Given the description of an element on the screen output the (x, y) to click on. 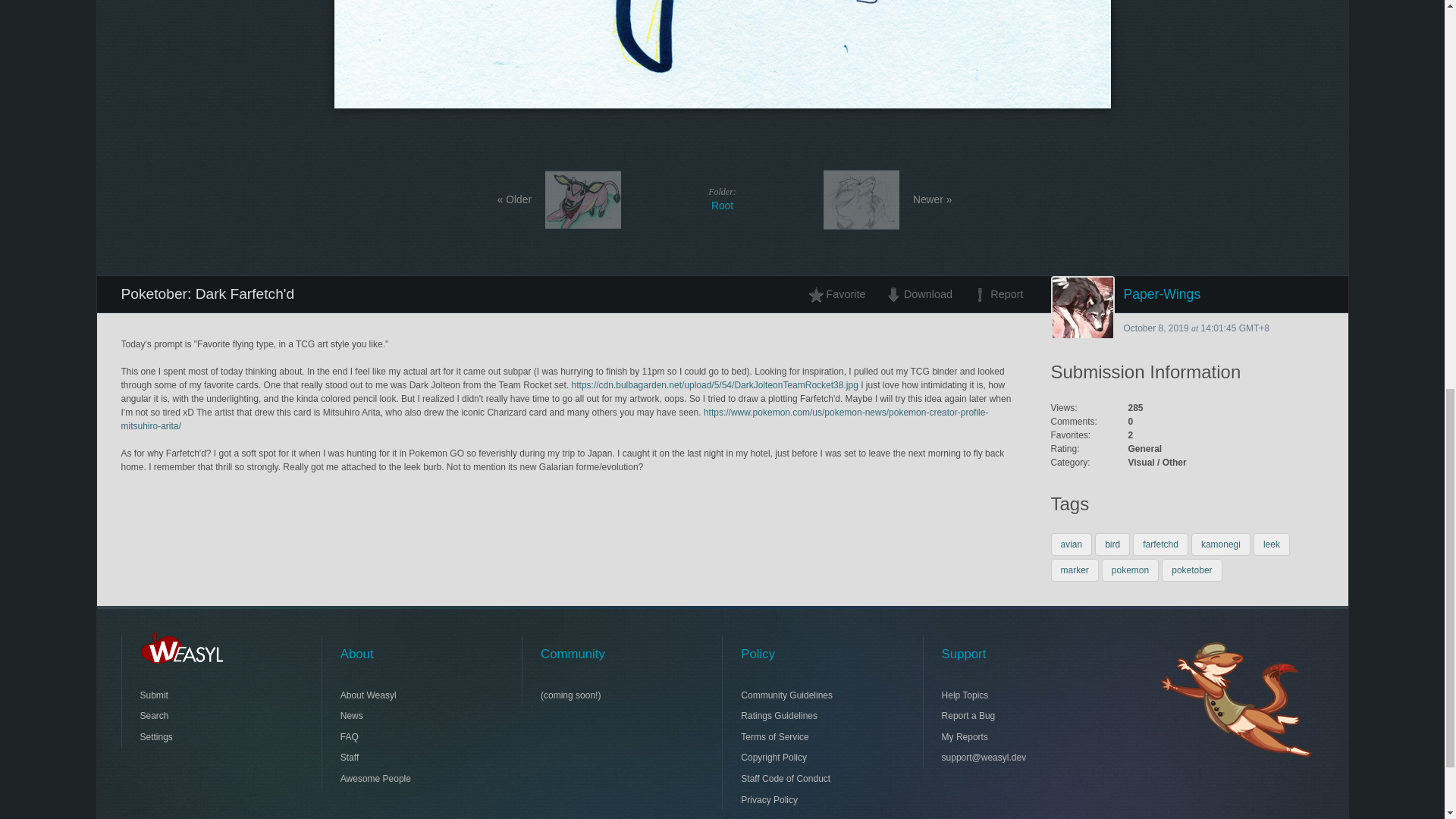
Report (993, 294)
Settings (721, 198)
leek (204, 736)
bird (1271, 544)
Search (1111, 544)
poketober (204, 715)
Download (1191, 569)
kamonegi (918, 294)
marker (1220, 544)
Submit (1075, 569)
avian (204, 694)
farfetchd (1072, 544)
Favorite (1160, 544)
Paper-Wings (841, 294)
